Given the description of an element on the screen output the (x, y) to click on. 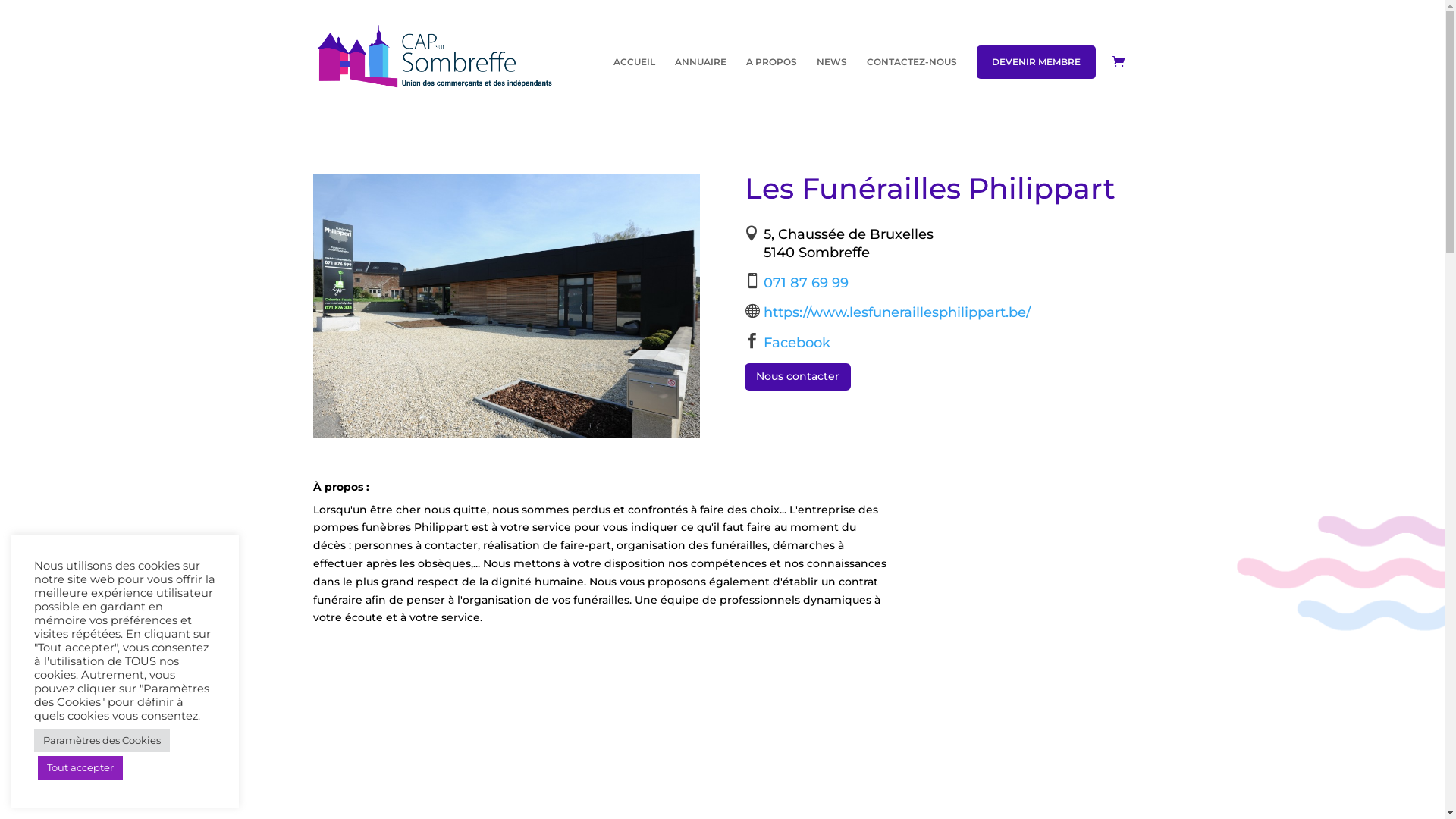
NEWS Element type: text (830, 84)
CONTACTEZ-NOUS Element type: text (911, 84)
ACCUEIL Element type: text (633, 84)
A PROPOS Element type: text (771, 84)
Tout accepter Element type: text (79, 767)
DEVENIR MEMBRE Element type: text (1035, 61)
Nous contacter Element type: text (797, 376)
funerailles-philippart-sombreffe-2022 Element type: hover (505, 305)
ANNUAIRE Element type: text (700, 84)
